Given the description of an element on the screen output the (x, y) to click on. 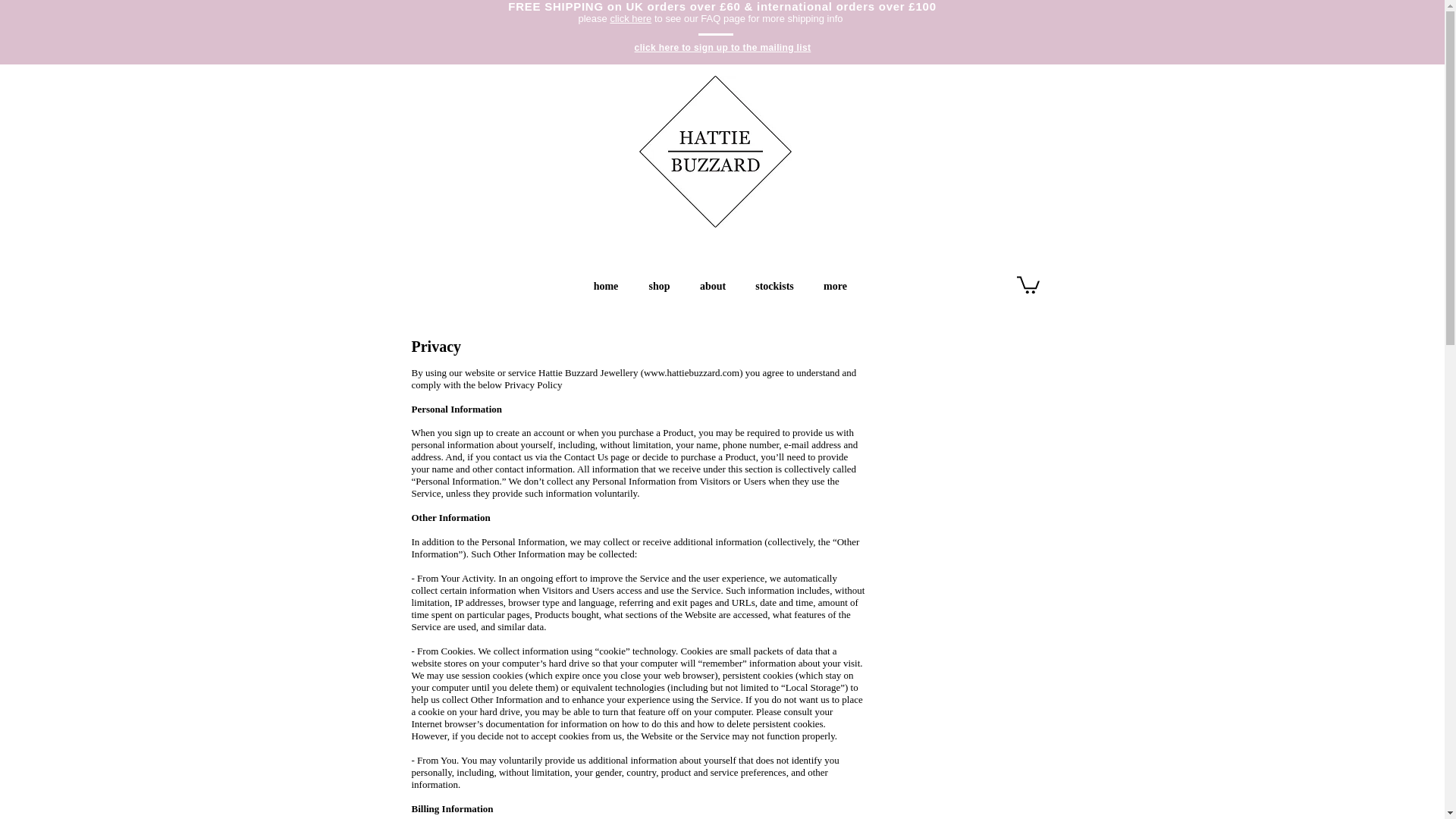
click here to sign up to the mailing list (722, 47)
home (605, 286)
click here (630, 18)
shop (659, 286)
stockists (773, 286)
about (713, 286)
www.hattiebuzzard.com (691, 372)
